Given the description of an element on the screen output the (x, y) to click on. 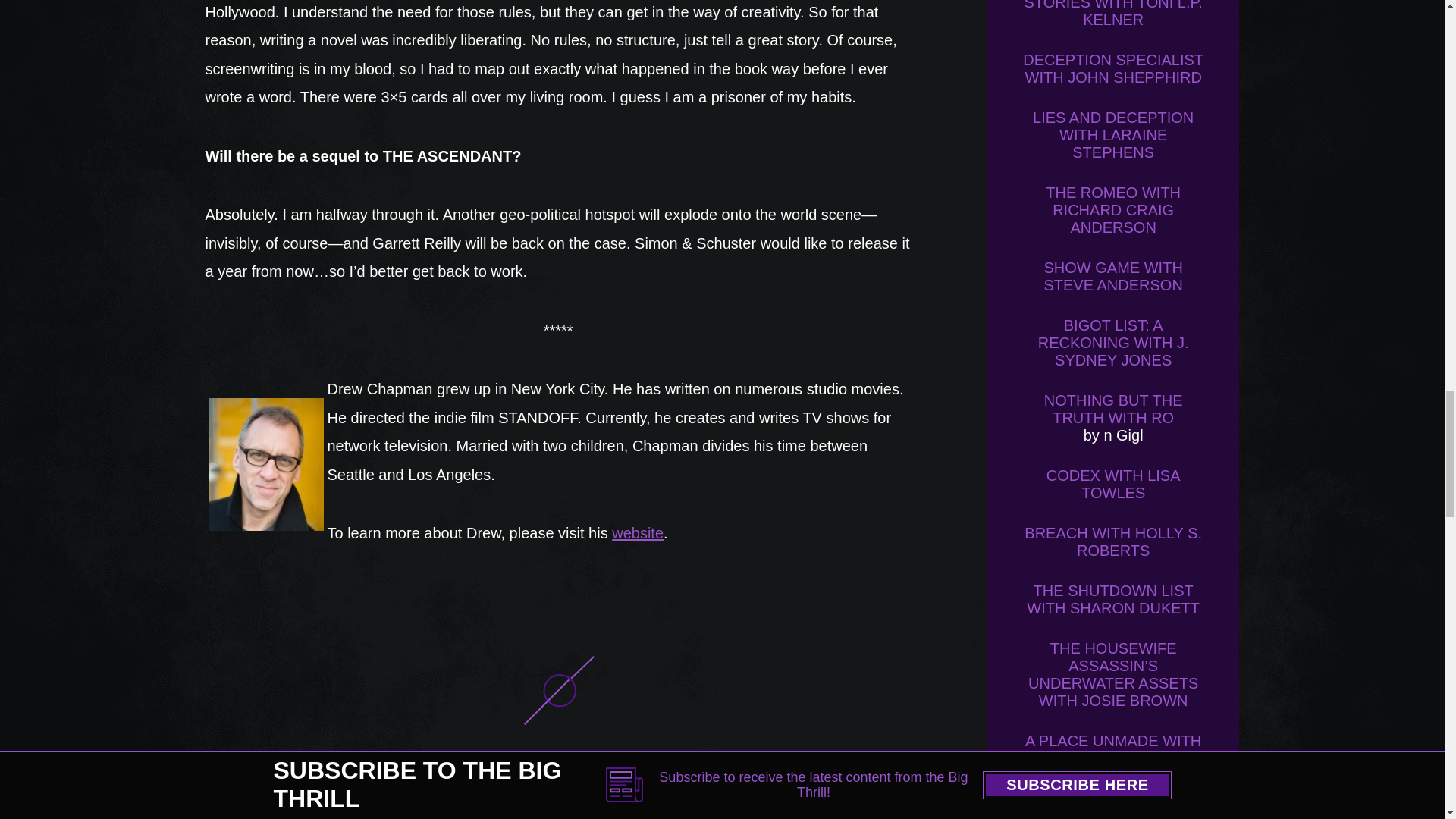
ITW (284, 809)
